Given the description of an element on the screen output the (x, y) to click on. 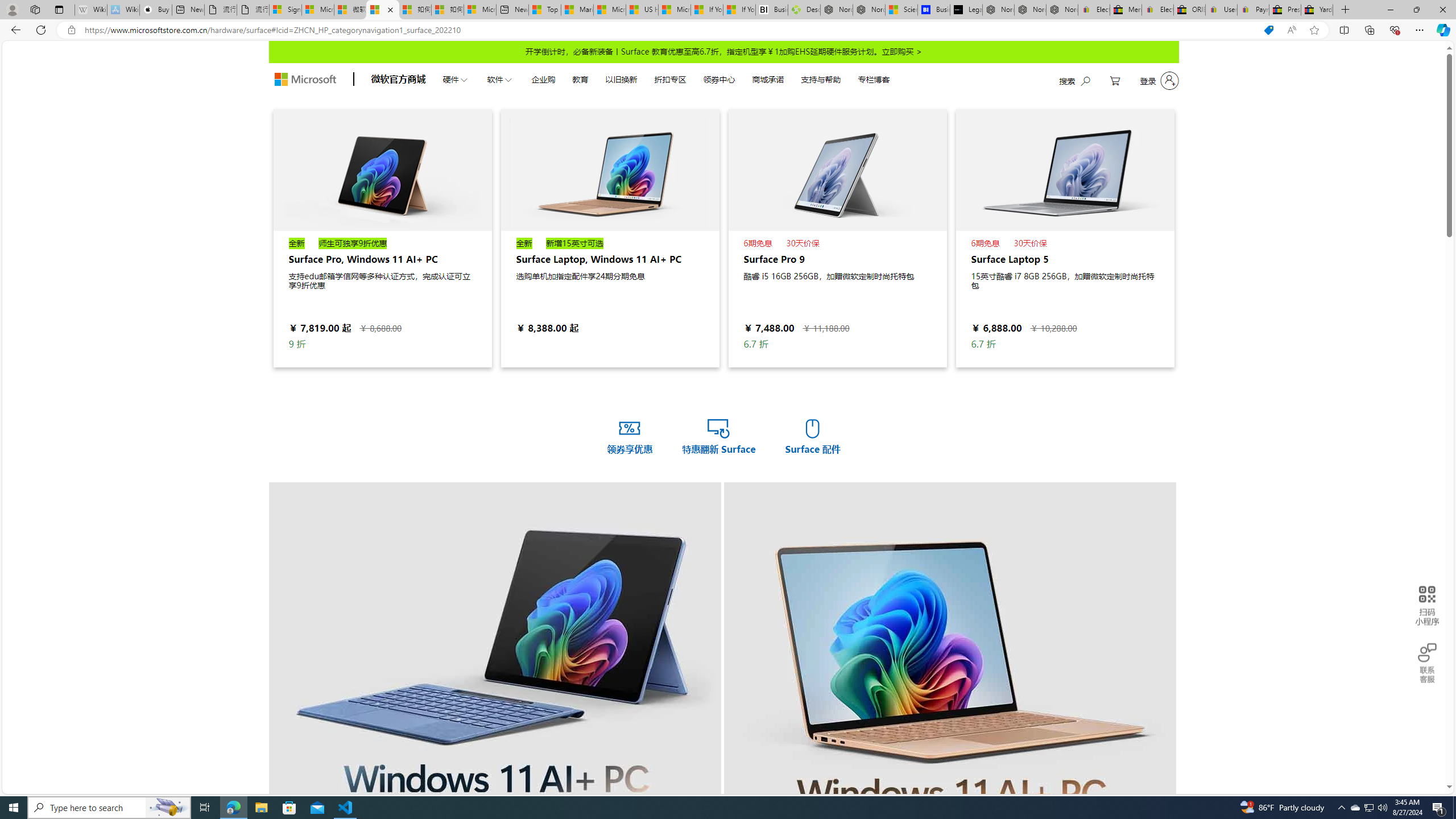
Yard, Garden & Outdoor Living (1316, 9)
US Heat Deaths Soared To Record High Last Year (641, 9)
App bar (728, 29)
Copilot (Ctrl+Shift+.) (1442, 29)
Close tab (389, 9)
Microsoft Start (674, 9)
Back (13, 29)
Surface Laptop 5 (1064, 237)
Surface Pro, Windows 11 AI+ PC (382, 169)
